Given the description of an element on the screen output the (x, y) to click on. 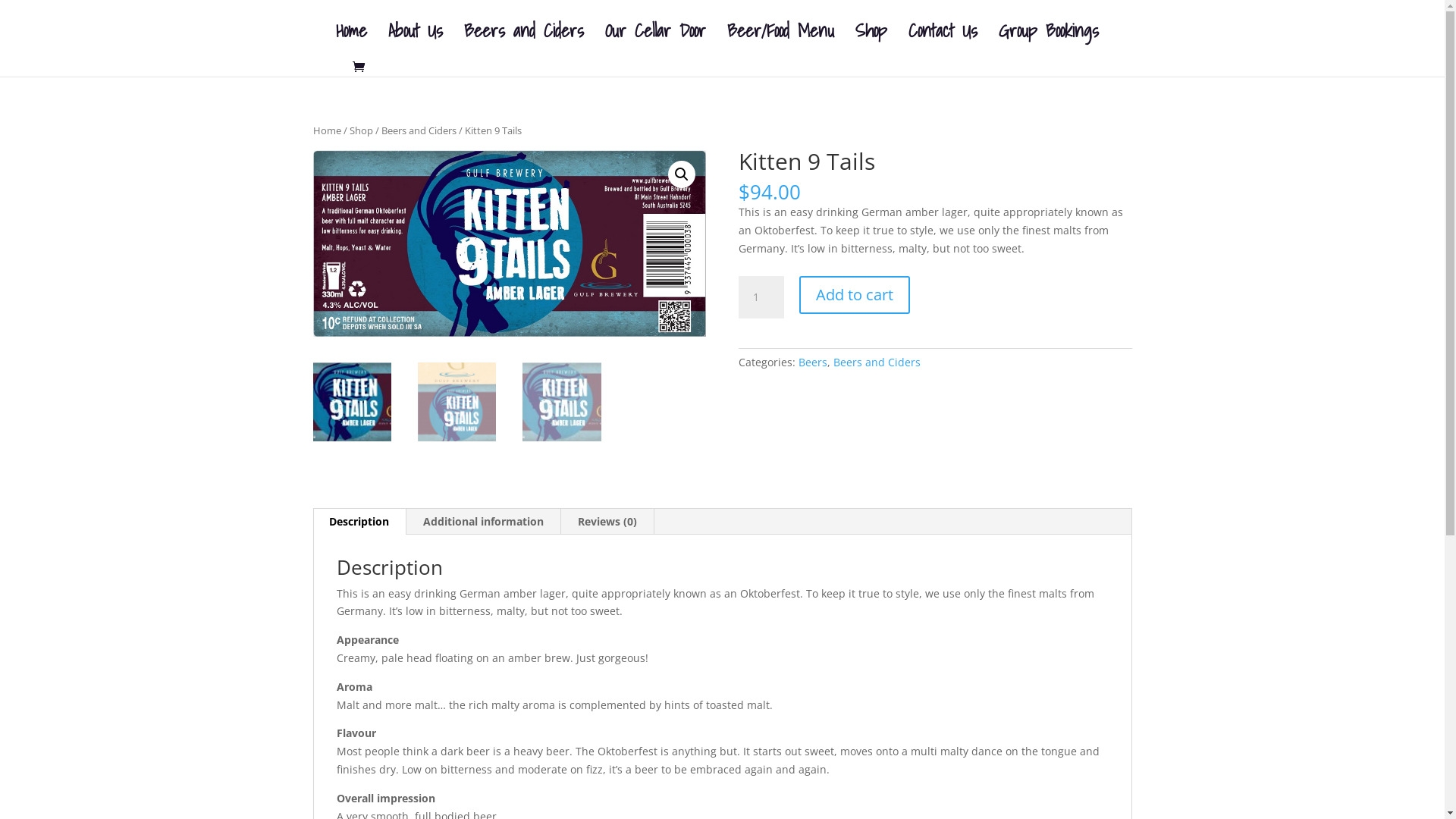
About Us Element type: text (415, 42)
Add to cart Element type: text (854, 294)
Beers and Ciders Element type: text (876, 361)
Our Cellar Door Element type: text (655, 42)
Beers and Ciders Element type: text (523, 42)
Additional information Element type: text (483, 521)
Beers and Ciders Element type: text (417, 130)
Description Element type: text (358, 521)
Shop Element type: text (871, 42)
Beer/Food Menu Element type: text (779, 42)
Home Element type: text (326, 130)
Group Bookings Element type: text (1047, 42)
Beers Element type: text (812, 361)
Contact Us Element type: text (942, 42)
Home Element type: text (350, 42)
Shop Element type: text (360, 130)
kitten9tails Element type: hover (508, 243)
Reviews (0) Element type: text (607, 521)
Qty Element type: hover (761, 297)
